Given the description of an element on the screen output the (x, y) to click on. 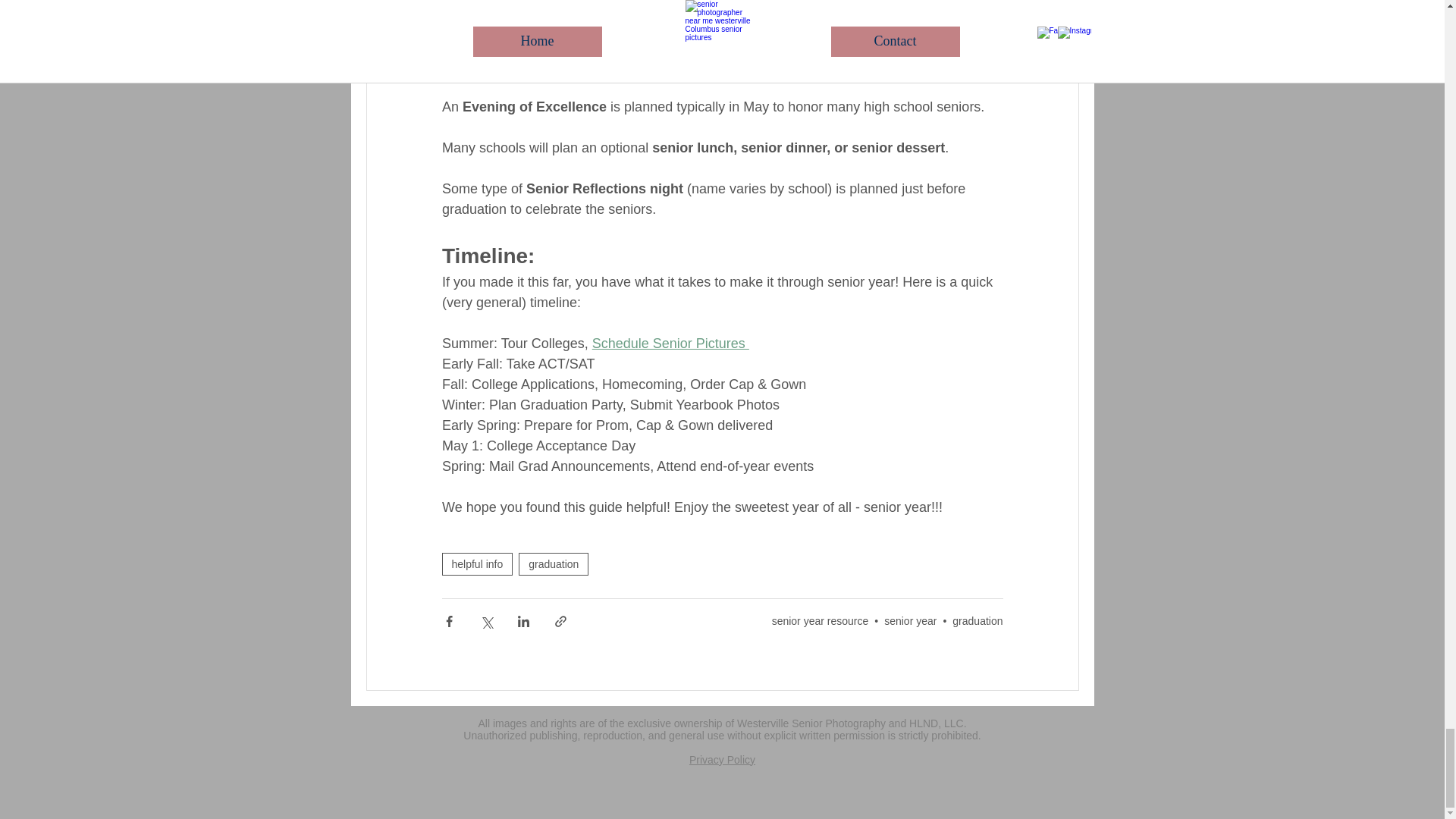
senior year resource (820, 621)
Privacy Policy (721, 759)
graduation (977, 621)
Schedule Senior Pictures  (669, 343)
helpful info (476, 563)
graduation (553, 563)
senior year (909, 621)
